Given the description of an element on the screen output the (x, y) to click on. 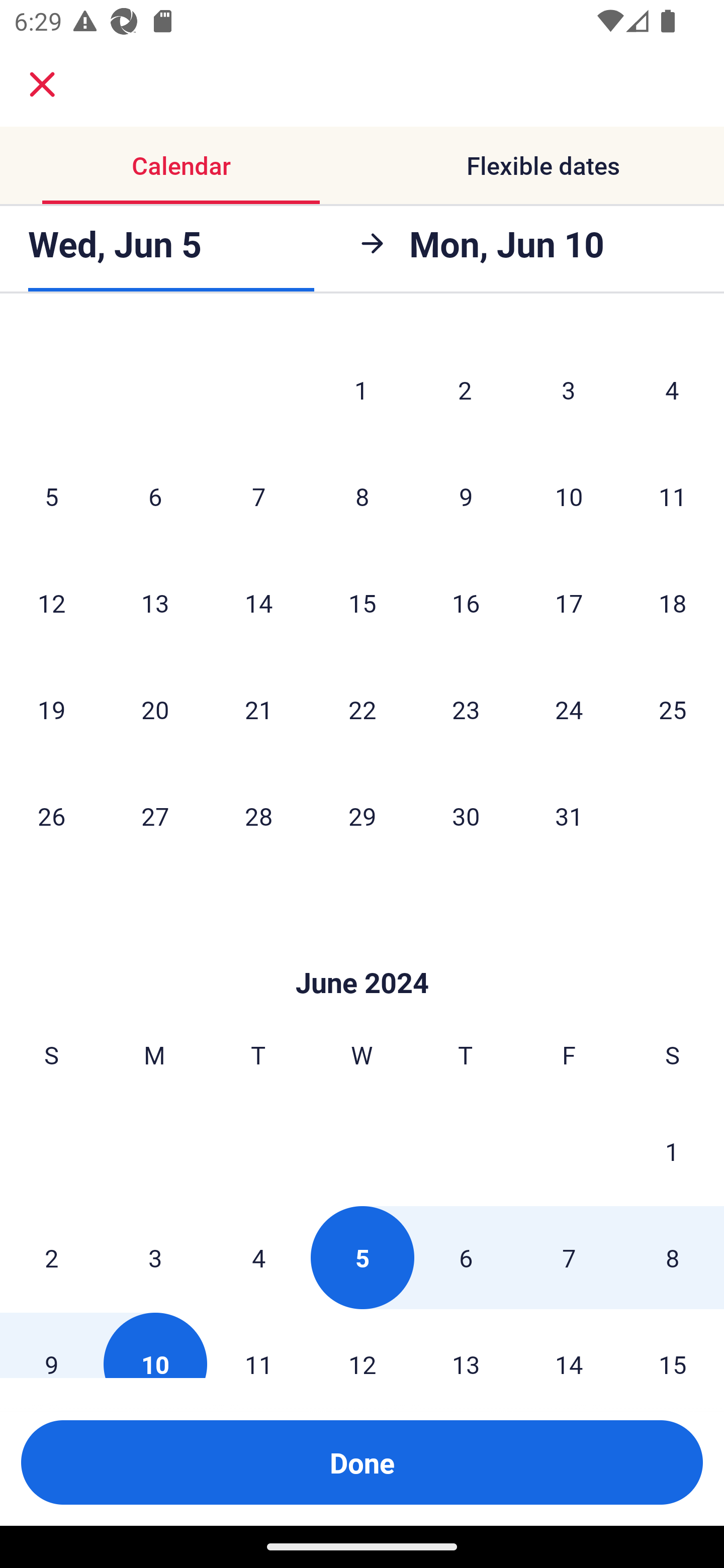
close. (42, 84)
Flexible dates (542, 164)
1 Wednesday, May 1, 2024 (361, 389)
2 Thursday, May 2, 2024 (464, 389)
3 Friday, May 3, 2024 (568, 389)
4 Saturday, May 4, 2024 (672, 389)
5 Sunday, May 5, 2024 (51, 496)
6 Monday, May 6, 2024 (155, 496)
7 Tuesday, May 7, 2024 (258, 496)
8 Wednesday, May 8, 2024 (362, 496)
9 Thursday, May 9, 2024 (465, 496)
10 Friday, May 10, 2024 (569, 496)
11 Saturday, May 11, 2024 (672, 496)
12 Sunday, May 12, 2024 (51, 602)
13 Monday, May 13, 2024 (155, 602)
14 Tuesday, May 14, 2024 (258, 602)
15 Wednesday, May 15, 2024 (362, 602)
16 Thursday, May 16, 2024 (465, 602)
17 Friday, May 17, 2024 (569, 602)
18 Saturday, May 18, 2024 (672, 602)
19 Sunday, May 19, 2024 (51, 709)
20 Monday, May 20, 2024 (155, 709)
21 Tuesday, May 21, 2024 (258, 709)
22 Wednesday, May 22, 2024 (362, 709)
23 Thursday, May 23, 2024 (465, 709)
24 Friday, May 24, 2024 (569, 709)
25 Saturday, May 25, 2024 (672, 709)
26 Sunday, May 26, 2024 (51, 816)
27 Monday, May 27, 2024 (155, 816)
28 Tuesday, May 28, 2024 (258, 816)
29 Wednesday, May 29, 2024 (362, 816)
30 Thursday, May 30, 2024 (465, 816)
31 Friday, May 31, 2024 (569, 816)
Skip to Done (362, 953)
1 Saturday, June 1, 2024 (672, 1150)
2 Sunday, June 2, 2024 (51, 1257)
3 Monday, June 3, 2024 (155, 1257)
4 Tuesday, June 4, 2024 (258, 1257)
11 Tuesday, June 11, 2024 (258, 1345)
12 Wednesday, June 12, 2024 (362, 1345)
13 Thursday, June 13, 2024 (465, 1345)
14 Friday, June 14, 2024 (569, 1345)
15 Saturday, June 15, 2024 (672, 1345)
Done (361, 1462)
